Given the description of an element on the screen output the (x, y) to click on. 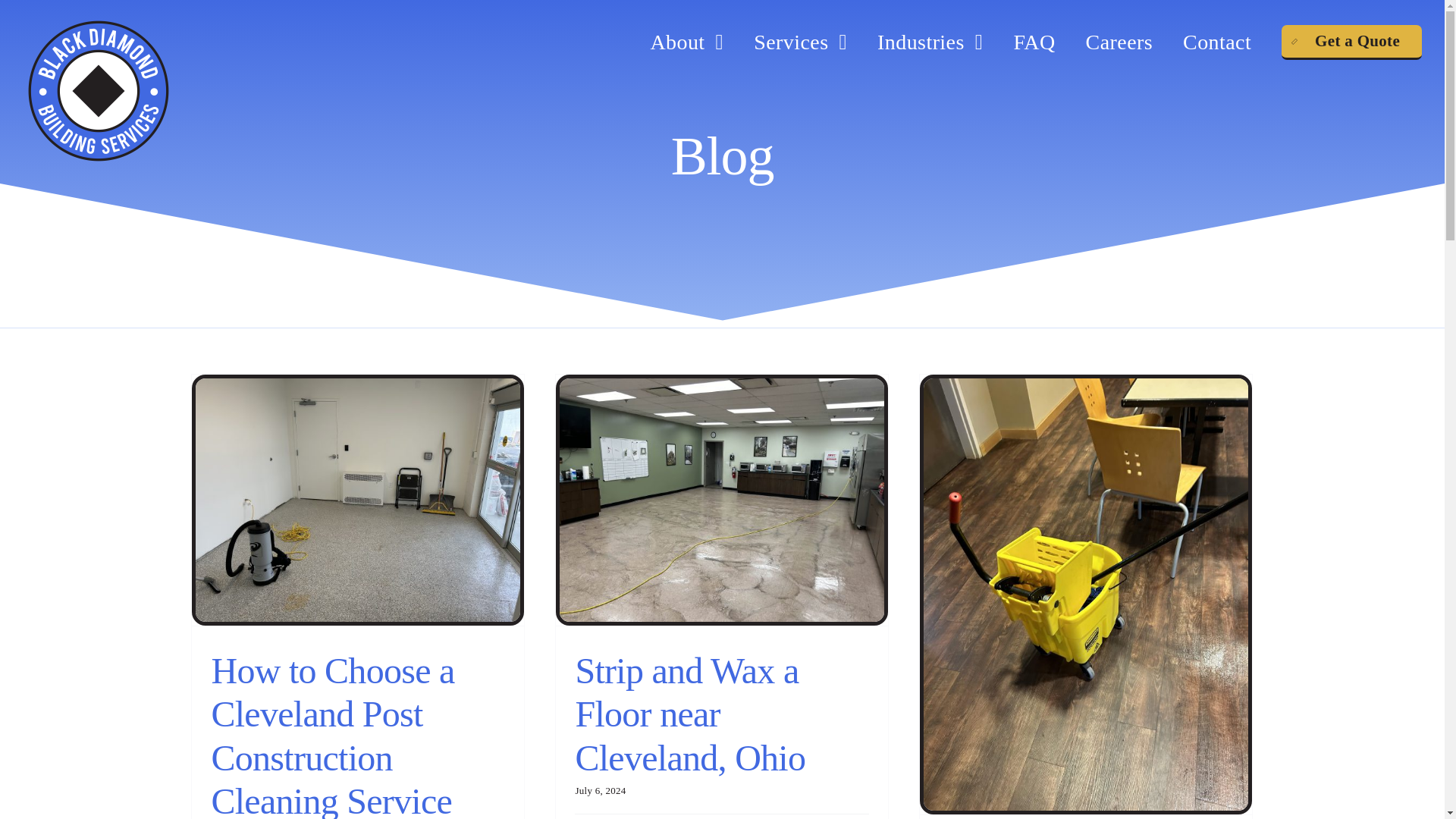
Industries (929, 42)
Services (800, 42)
Get a Quote (1351, 42)
